Given the description of an element on the screen output the (x, y) to click on. 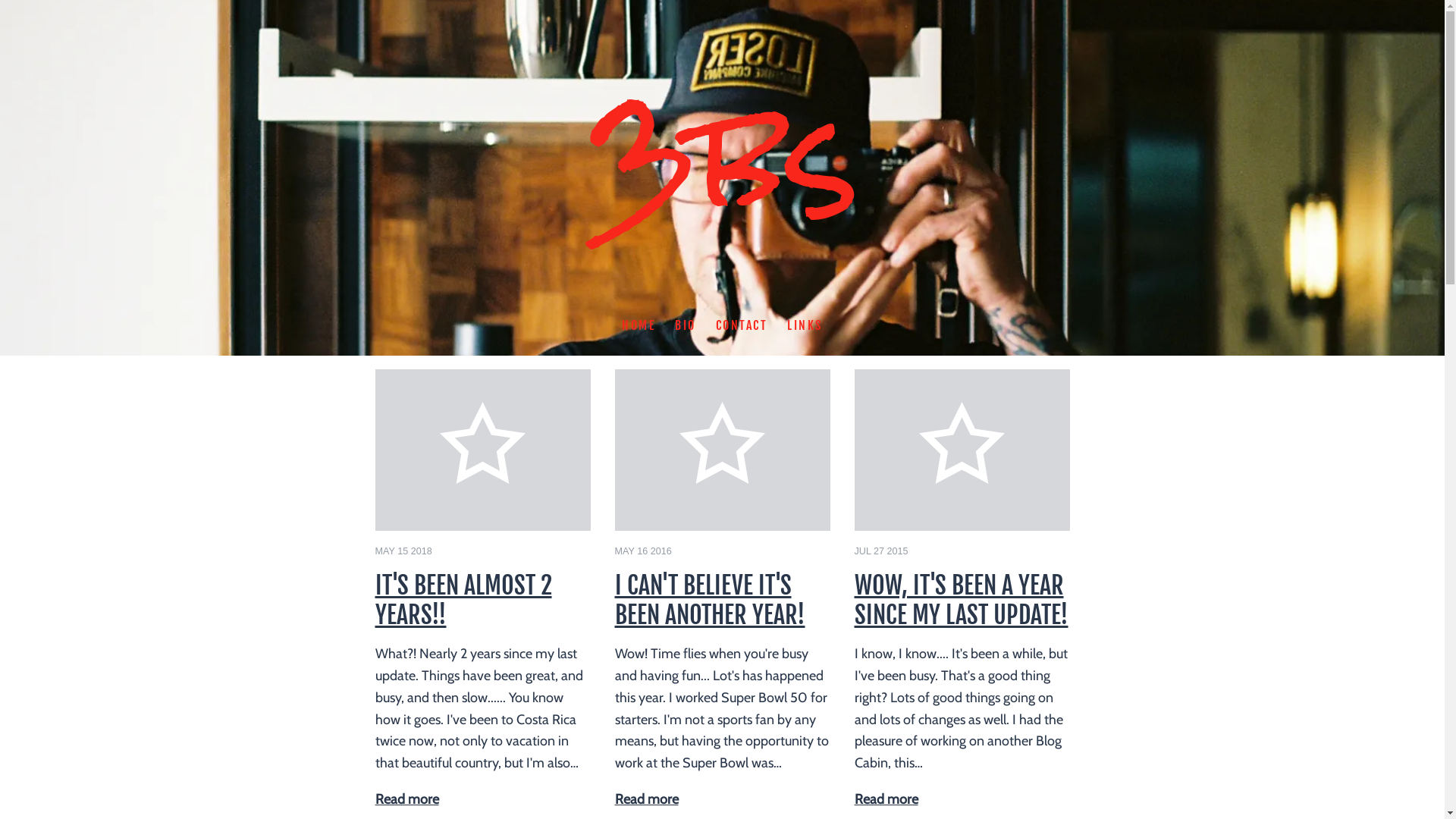
BIO Element type: text (685, 325)
I CAN'T BELIEVE IT'S BEEN ANOTHER YEAR! Element type: text (709, 599)
Read more Element type: text (885, 798)
CONTACT Element type: text (741, 325)
Read more Element type: text (406, 798)
Read more Element type: text (645, 798)
LINKS Element type: text (804, 325)
IT'S BEEN ALMOST 2 YEARS!! Element type: text (462, 599)
3bs Element type: text (722, 203)
HOME Element type: text (638, 325)
WOW, IT'S BEEN A YEAR SINCE MY LAST UPDATE! Element type: text (960, 599)
